Given the description of an element on the screen output the (x, y) to click on. 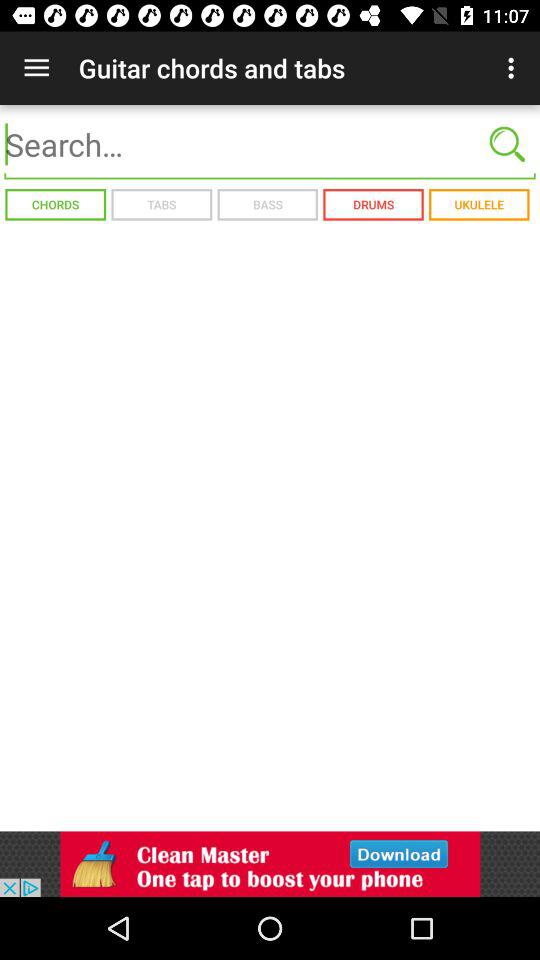
enter search terms (270, 144)
